Given the description of an element on the screen output the (x, y) to click on. 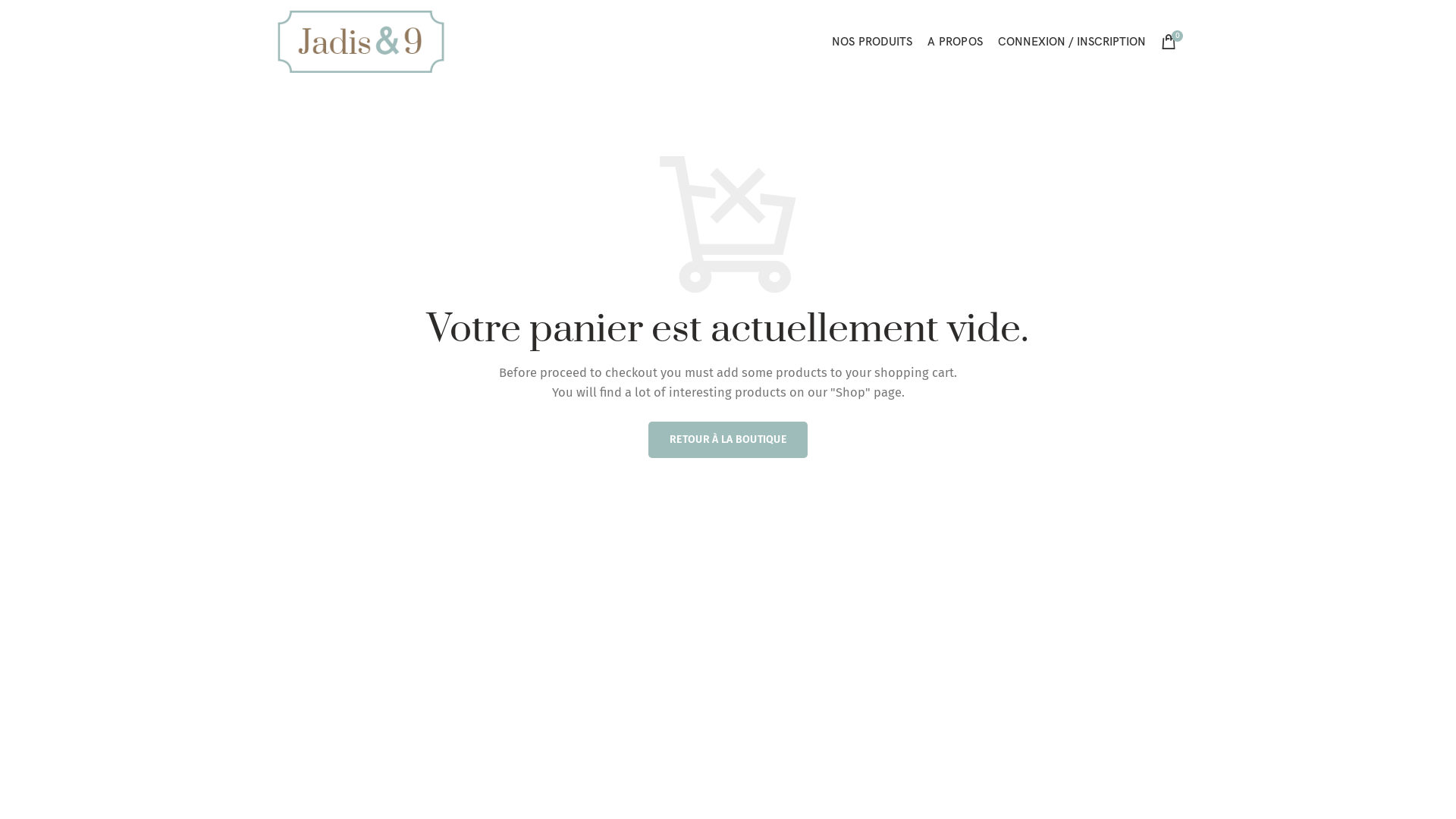
0 Element type: text (1168, 41)
A PROPOS Element type: text (954, 41)
NOS PRODUITS Element type: text (871, 41)
CONNEXION / INSCRIPTION Element type: text (1071, 41)
Log in Element type: text (1020, 269)
